Given the description of an element on the screen output the (x, y) to click on. 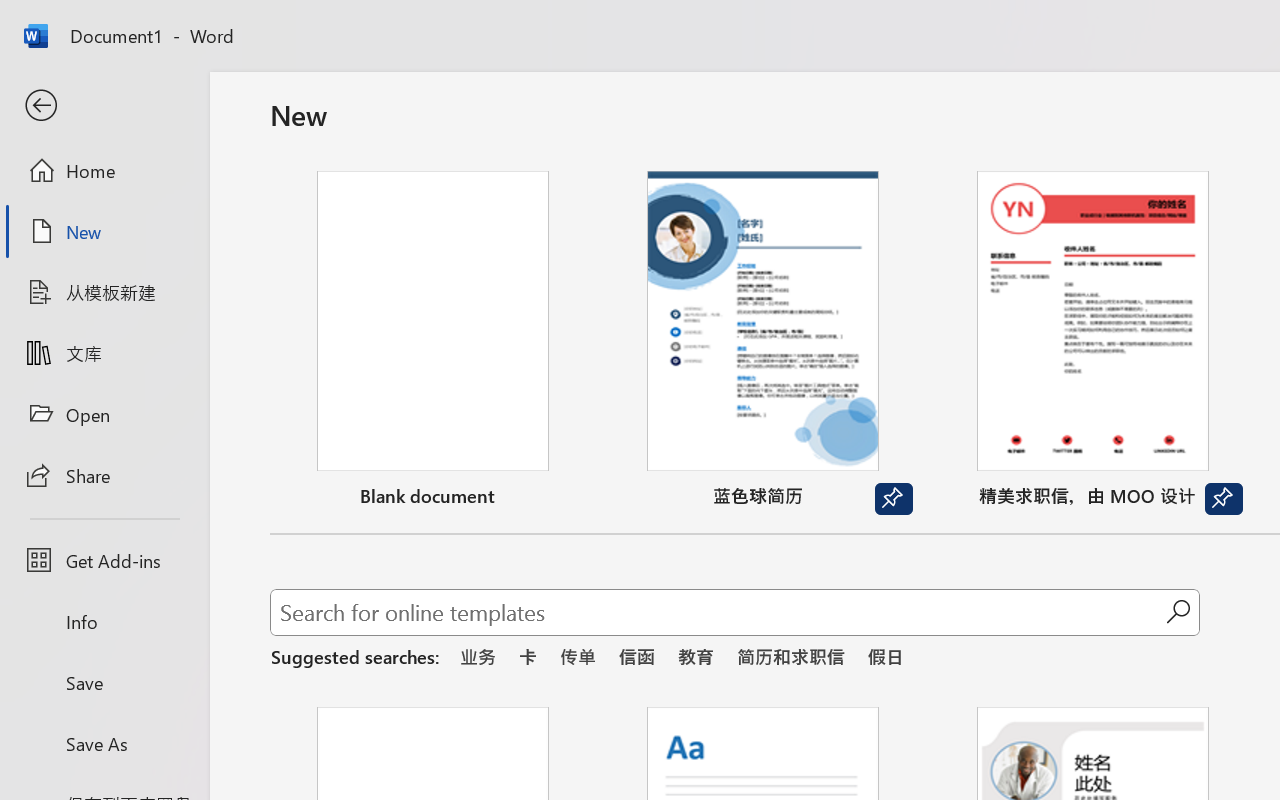
New (104, 231)
Back (104, 106)
Unpin from list (1223, 499)
Search for online templates (718, 615)
